Given the description of an element on the screen output the (x, y) to click on. 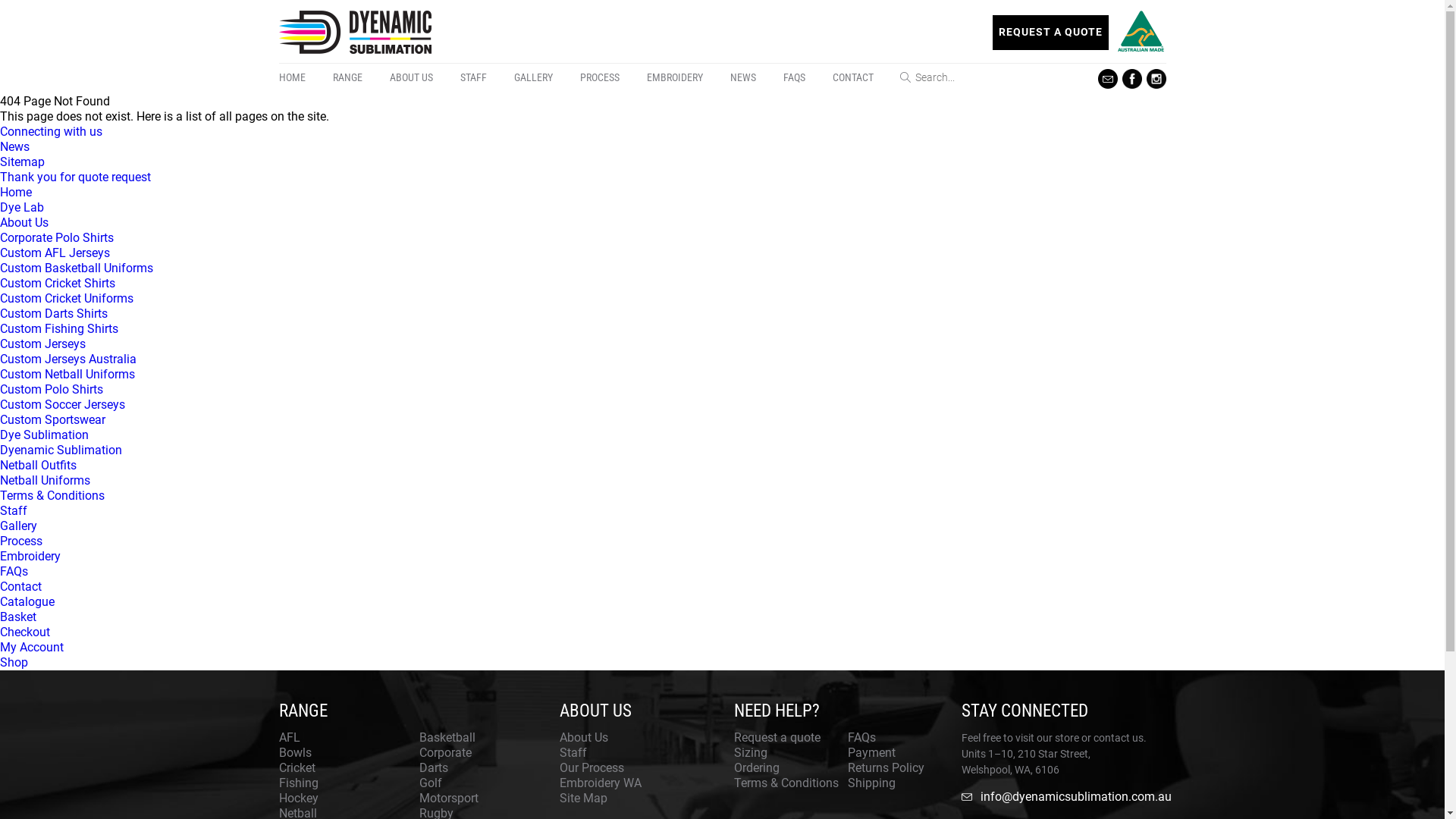
Site Map Element type: text (583, 797)
Custom Basketball Uniforms Element type: text (76, 267)
Custom Darts Shirts Element type: text (53, 313)
FAQS Element type: text (793, 77)
Staff Element type: text (13, 510)
Bowls Element type: text (295, 752)
Custom Cricket Shirts Element type: text (57, 283)
Returns Policy Element type: text (885, 767)
Corporate Polo Shirts Element type: text (56, 237)
NEWS Element type: text (741, 77)
Staff Element type: text (572, 752)
ABOUT US Element type: text (411, 77)
Custom Cricket Uniforms Element type: text (66, 298)
Thank you for quote request Element type: text (75, 176)
Terms & Conditions Element type: text (52, 495)
Custom Fishing Shirts Element type: text (59, 328)
Terms & Conditions Element type: text (786, 782)
Corporate Element type: text (444, 752)
Payment Element type: text (871, 752)
Dye Sublimation Element type: text (44, 434)
Dyenamic Sublimation Element type: text (61, 449)
Fishing Element type: text (298, 782)
REQUEST A QUOTE Element type: text (1050, 32)
Motorsport Element type: text (447, 797)
FAQs Element type: text (861, 737)
Cricket Element type: text (297, 767)
CONTACT Element type: text (853, 77)
Embroidery WA Element type: text (600, 782)
GALLERY Element type: text (533, 77)
info@dyenamicsublimation.com.au Element type: text (1063, 796)
Shipping Element type: text (871, 782)
HOME Element type: text (299, 77)
Golf Element type: text (429, 782)
EMBROIDERY Element type: text (673, 77)
Darts Element type: text (432, 767)
My Account Element type: text (31, 647)
Gallery Element type: text (18, 525)
Custom Sportswear Element type: text (52, 419)
Sitemap Element type: text (22, 161)
Shop Element type: text (14, 662)
Sizing Element type: text (750, 752)
Basketball Element type: text (446, 737)
About Us Element type: text (24, 222)
Custom AFL Jerseys Element type: text (54, 252)
FAQs Element type: text (14, 571)
Ordering Element type: text (756, 767)
Custom Jerseys Element type: text (42, 343)
Catalogue Element type: text (27, 601)
Home Element type: text (15, 192)
AFL Element type: text (289, 737)
Netball Uniforms Element type: text (45, 480)
Netball Outfits Element type: text (38, 465)
Custom Netball Uniforms Element type: text (67, 374)
STAFF Element type: text (472, 77)
Request a quote Element type: text (777, 737)
Our Process Element type: text (591, 767)
PROCESS Element type: text (598, 77)
Checkout Element type: text (25, 631)
About Us Element type: text (583, 737)
Hockey Element type: text (298, 797)
News Element type: text (14, 146)
RANGE Element type: text (346, 77)
Connecting with us Element type: text (51, 131)
Custom Jerseys Australia Element type: text (68, 358)
Process Element type: text (21, 540)
Dye Lab Element type: text (21, 207)
Basket Element type: text (18, 616)
Custom Soccer Jerseys Element type: text (62, 404)
Custom Polo Shirts Element type: text (51, 389)
Embroidery Element type: text (30, 556)
Contact Element type: text (20, 586)
